Given the description of an element on the screen output the (x, y) to click on. 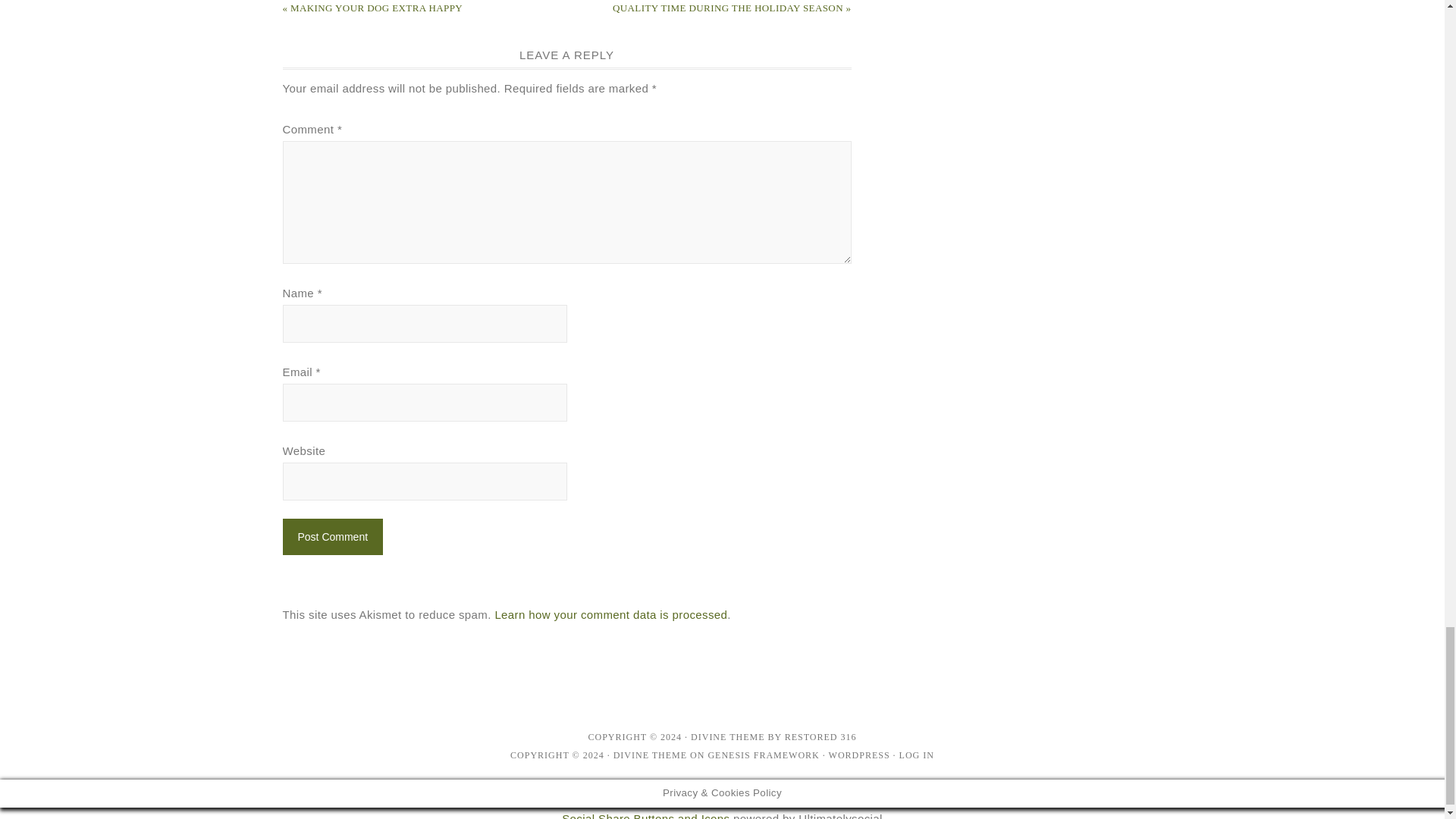
Post Comment (332, 536)
WORDPRESS (858, 755)
RESTORED 316 (820, 737)
DIVINE THEME (727, 737)
GENESIS FRAMEWORK (762, 755)
LOG IN (916, 755)
Post Comment (332, 536)
DIVINE THEME (649, 755)
Learn how your comment data is processed (610, 614)
